Given the description of an element on the screen output the (x, y) to click on. 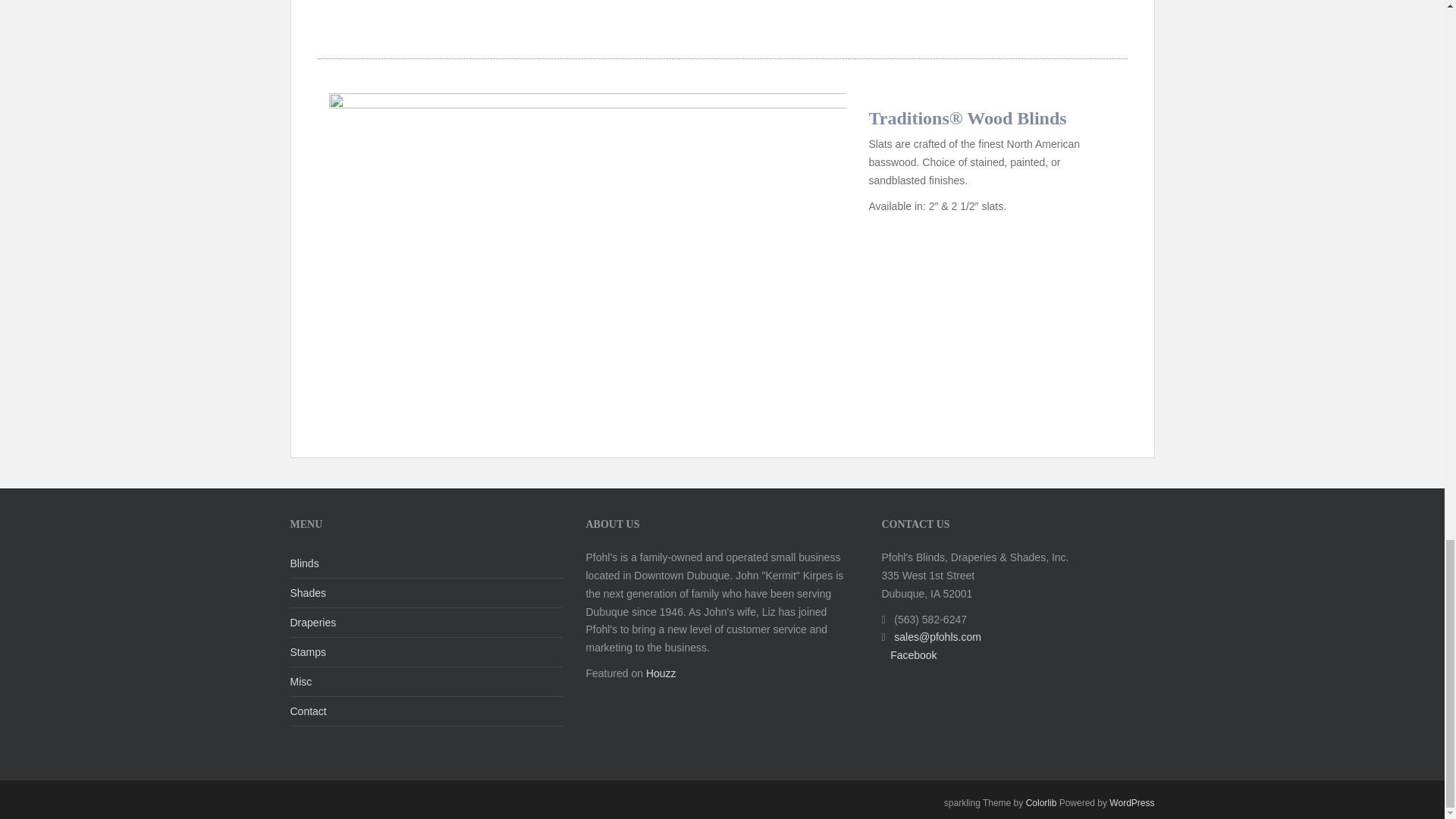
Facebook (912, 654)
Stamps (425, 652)
Misc (425, 681)
Contact (425, 711)
Houzz (661, 673)
Colorlib (1041, 802)
Draperies (425, 623)
WordPress (1131, 802)
Blinds (425, 563)
Shades (425, 593)
